Given the description of an element on the screen output the (x, y) to click on. 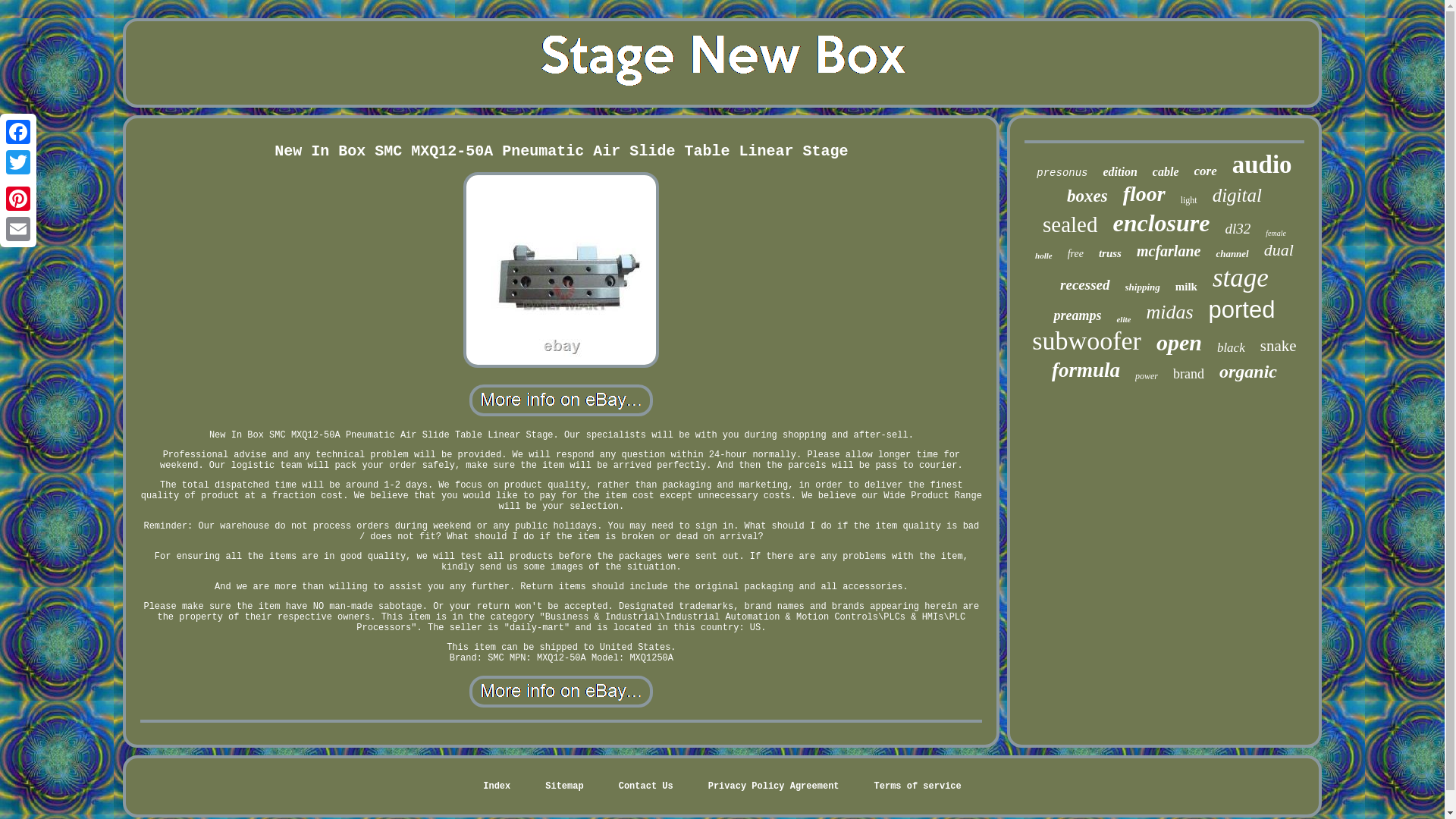
mcfarlane (1168, 251)
Email (17, 228)
core (1205, 171)
subwoofer (1086, 340)
channel (1231, 254)
Twitter (17, 162)
shipping (1142, 287)
stage (1240, 277)
elite (1123, 318)
recessed (1084, 284)
